Given the description of an element on the screen output the (x, y) to click on. 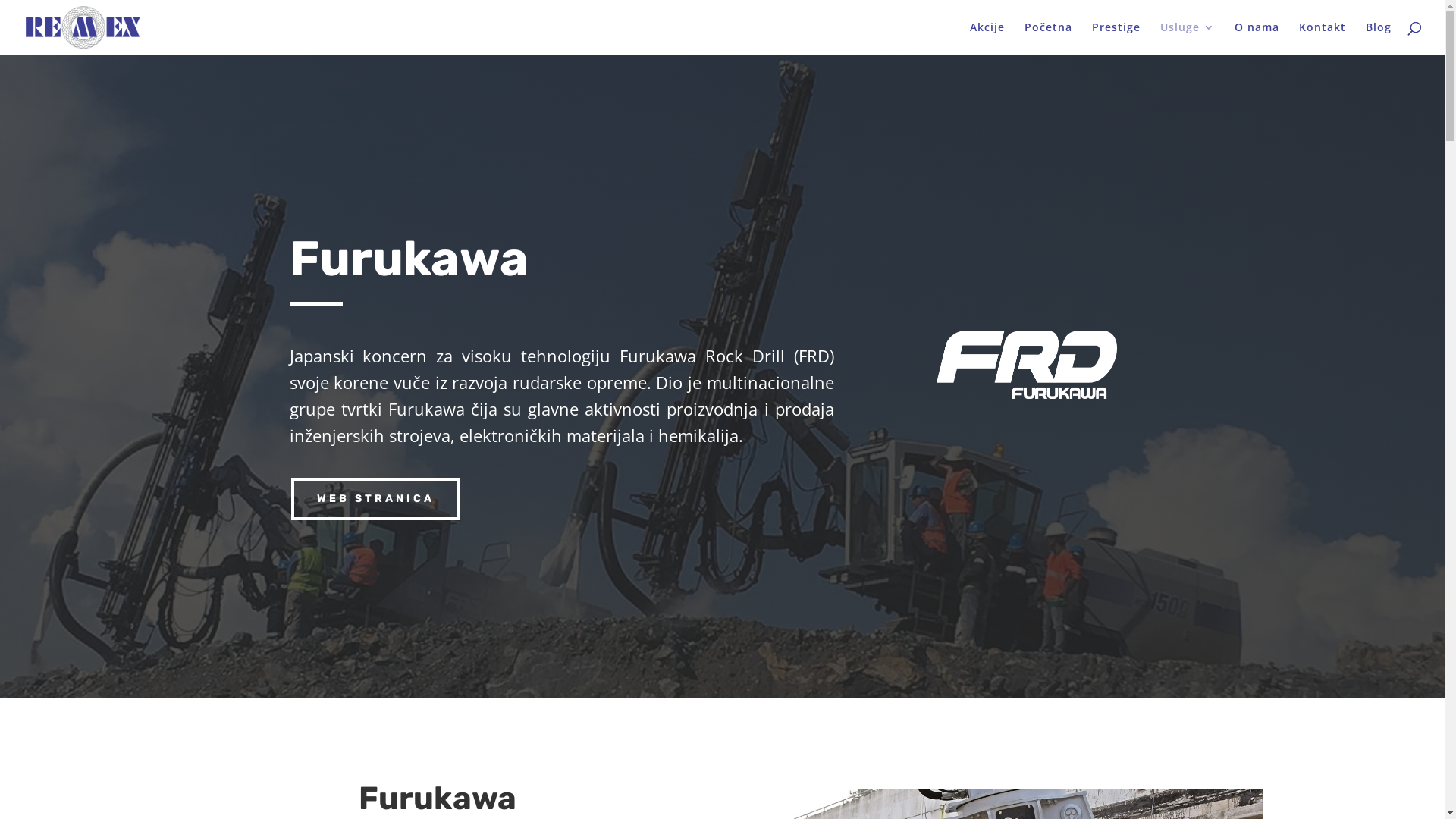
Prestige Element type: text (1116, 37)
Blog Element type: text (1378, 37)
WEB STRANICA Element type: text (375, 498)
Akcije Element type: text (986, 37)
Usluge Element type: text (1187, 37)
O nama Element type: text (1256, 37)
FRD-LOGO white Element type: hover (1026, 364)
Kontakt Element type: text (1322, 37)
